Given the description of an element on the screen output the (x, y) to click on. 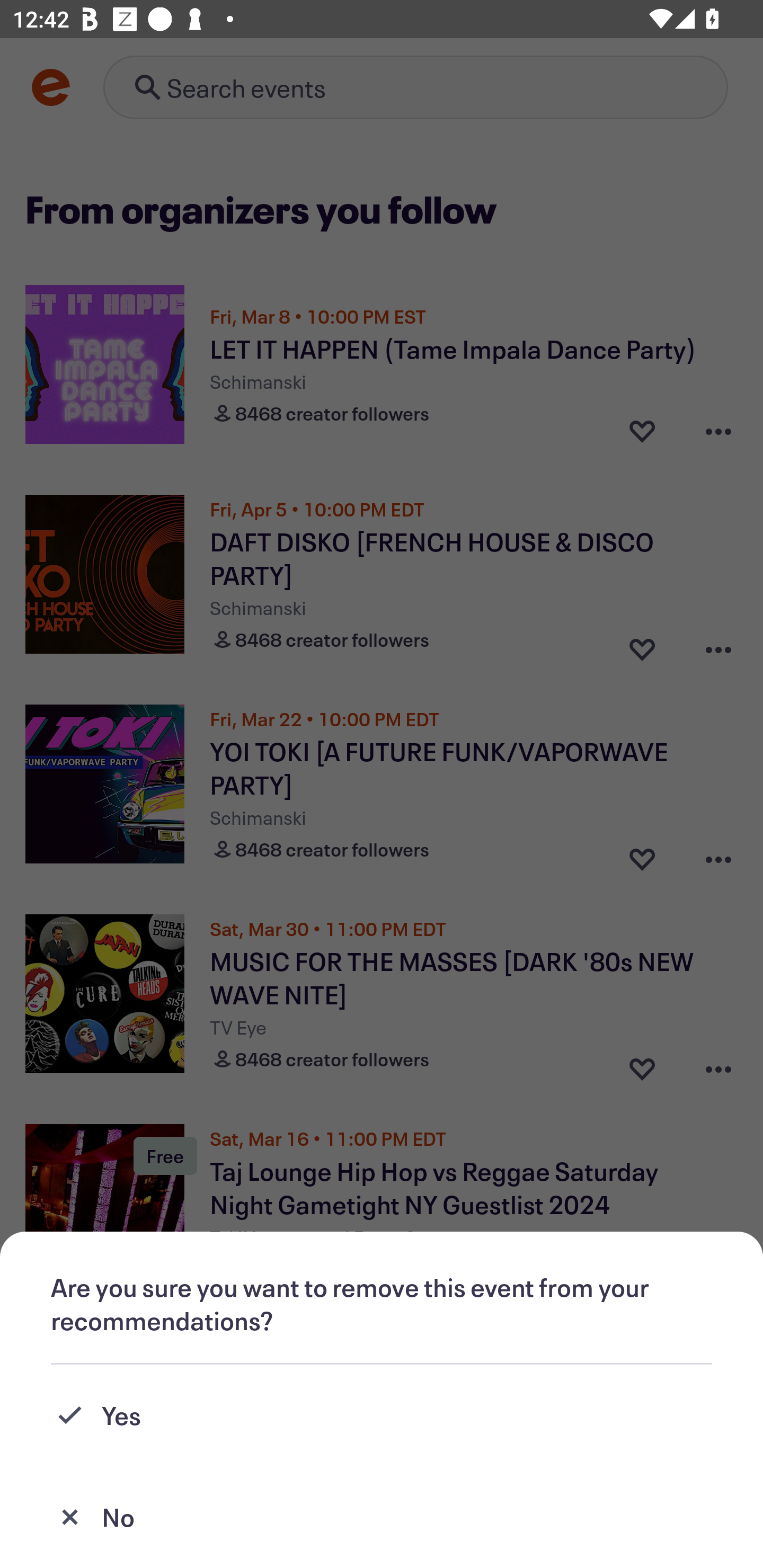
Yes (381, 1415)
No (381, 1517)
